Given the description of an element on the screen output the (x, y) to click on. 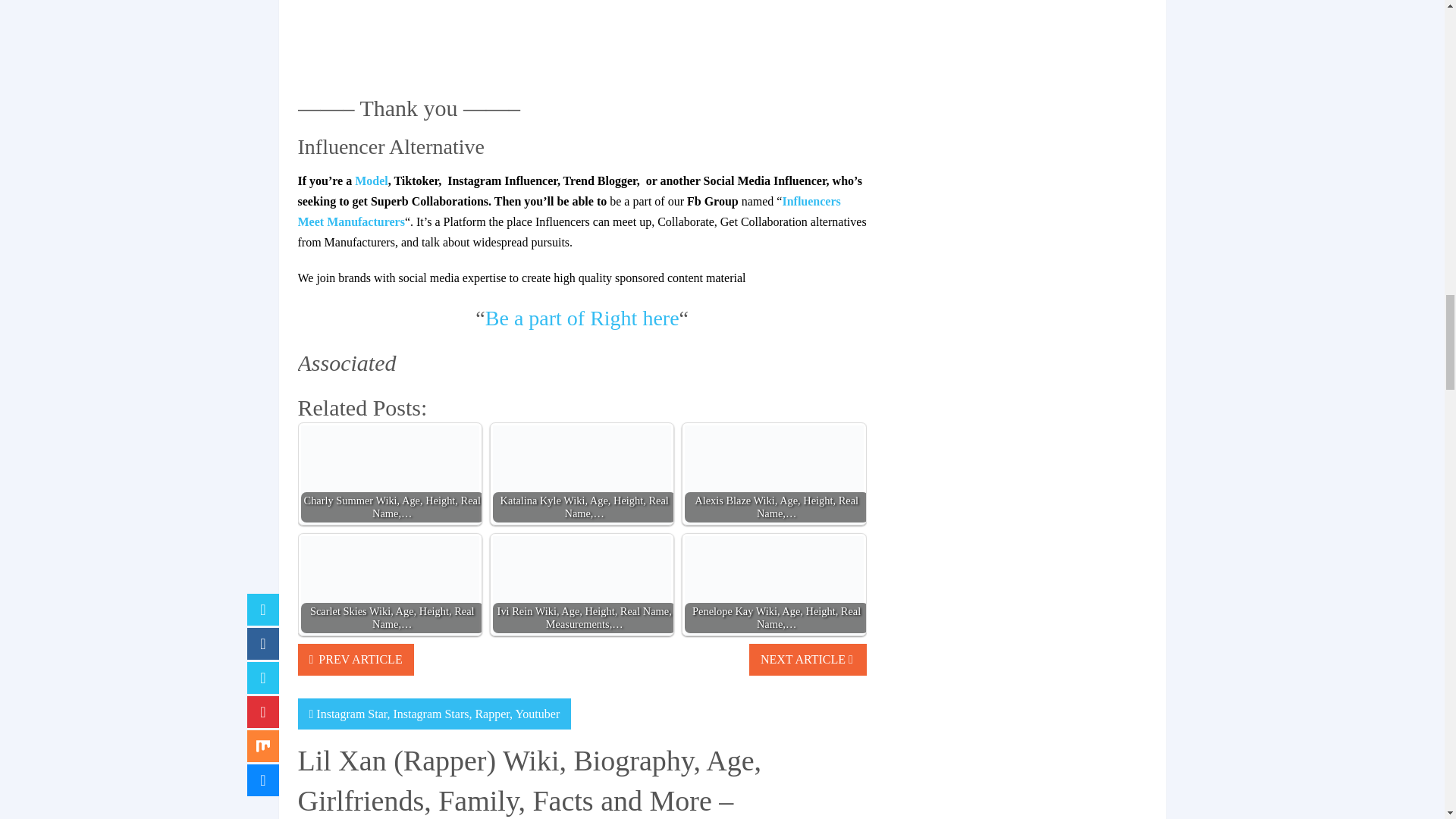
Antje Utgaard Wiki (371, 180)
Be a part of Right here (581, 318)
Influencers Meet Manufacturers (568, 211)
Model (371, 180)
